Given the description of an element on the screen output the (x, y) to click on. 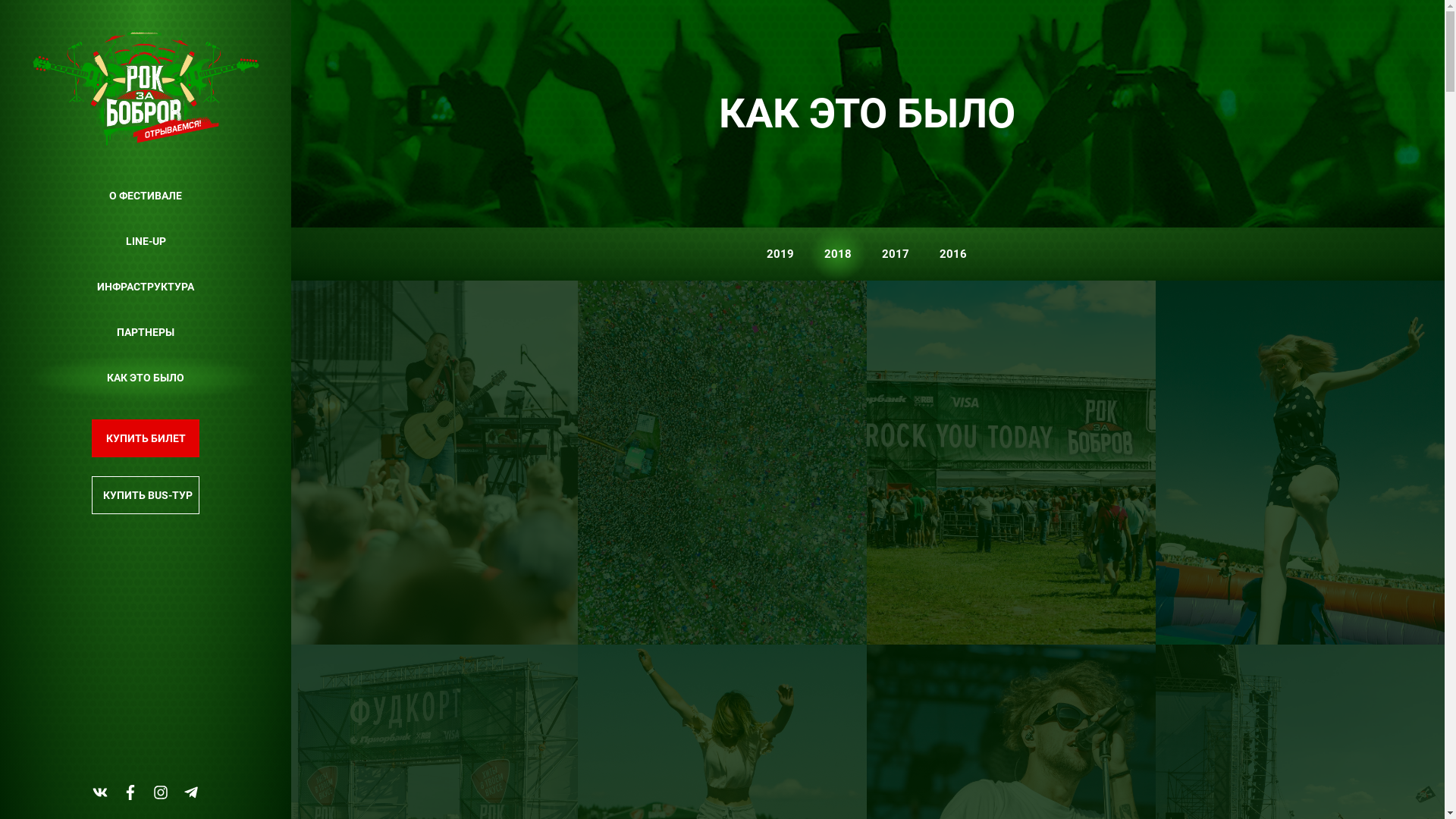
2018 Element type: text (837, 253)
2017 Element type: text (895, 253)
2016 Element type: text (953, 253)
LINE-UP Element type: text (145, 240)
2019 Element type: text (780, 253)
